Given the description of an element on the screen output the (x, y) to click on. 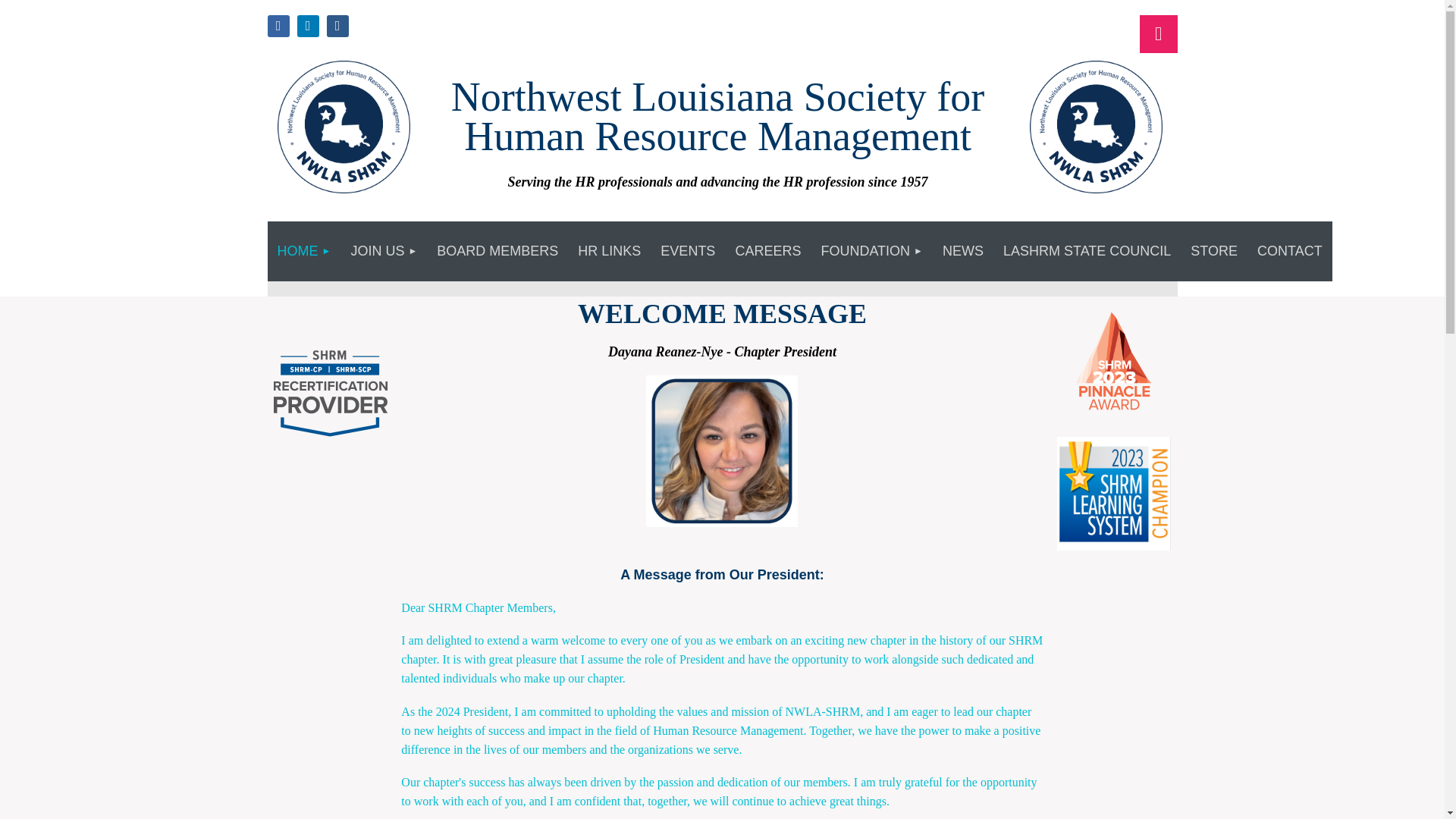
BOARD MEMBERS (496, 251)
CAREERS (767, 251)
Log in (1157, 34)
HR LINKS (608, 251)
LASHRM STATE COUNCIL (1086, 251)
NEWS (962, 251)
EVENTS (687, 251)
HOME (303, 251)
FOUNDATION (871, 251)
JOIN US (383, 251)
